Given the description of an element on the screen output the (x, y) to click on. 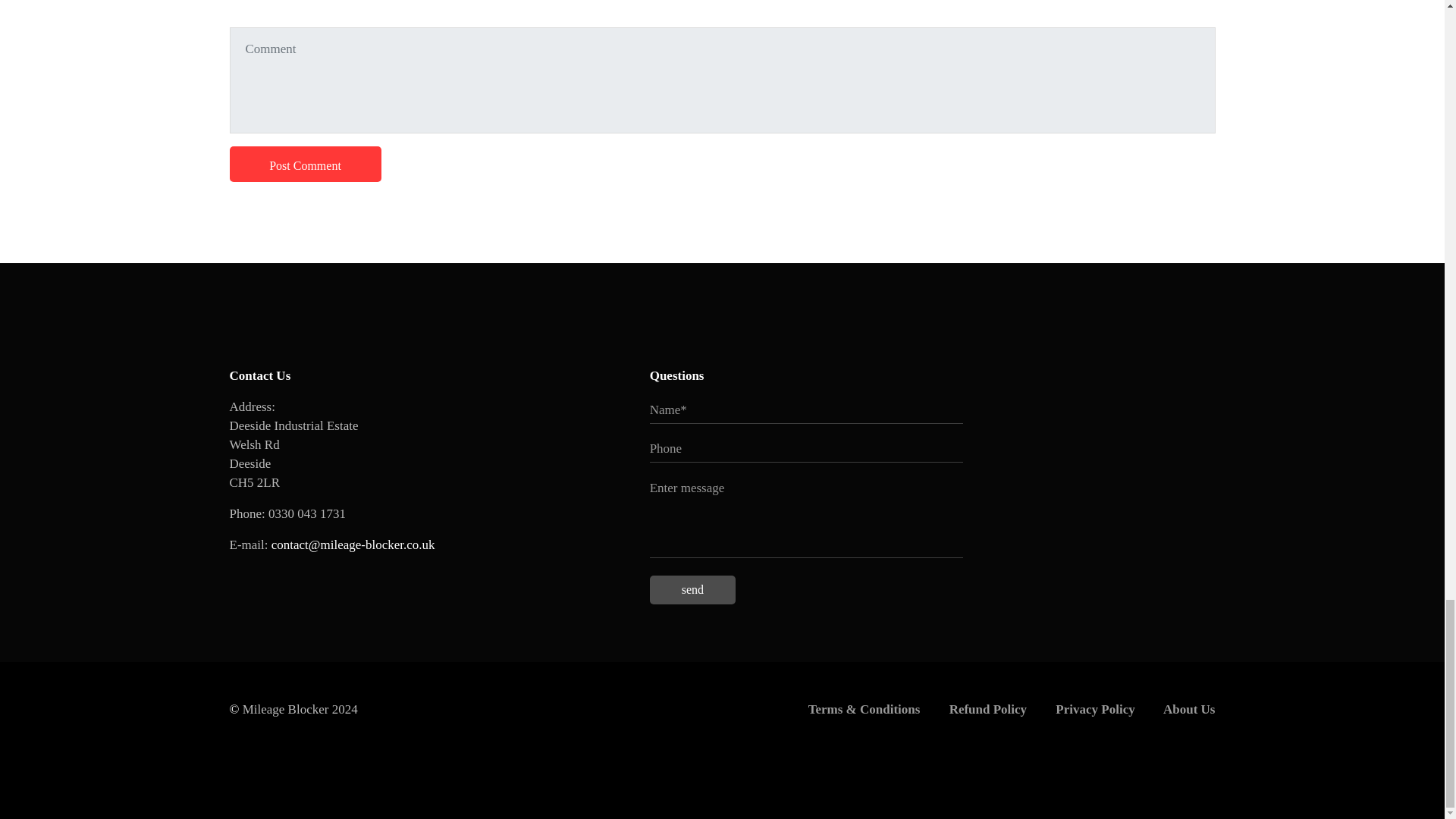
send (692, 589)
Instagram 3d Logo qube for link to social media platform (374, 574)
Post Comment (304, 163)
 Facebook 3d Logo qube for link to social media platform (317, 574)
Twitter 3d Logo qube for link to social media platform (260, 574)
